Given the description of an element on the screen output the (x, y) to click on. 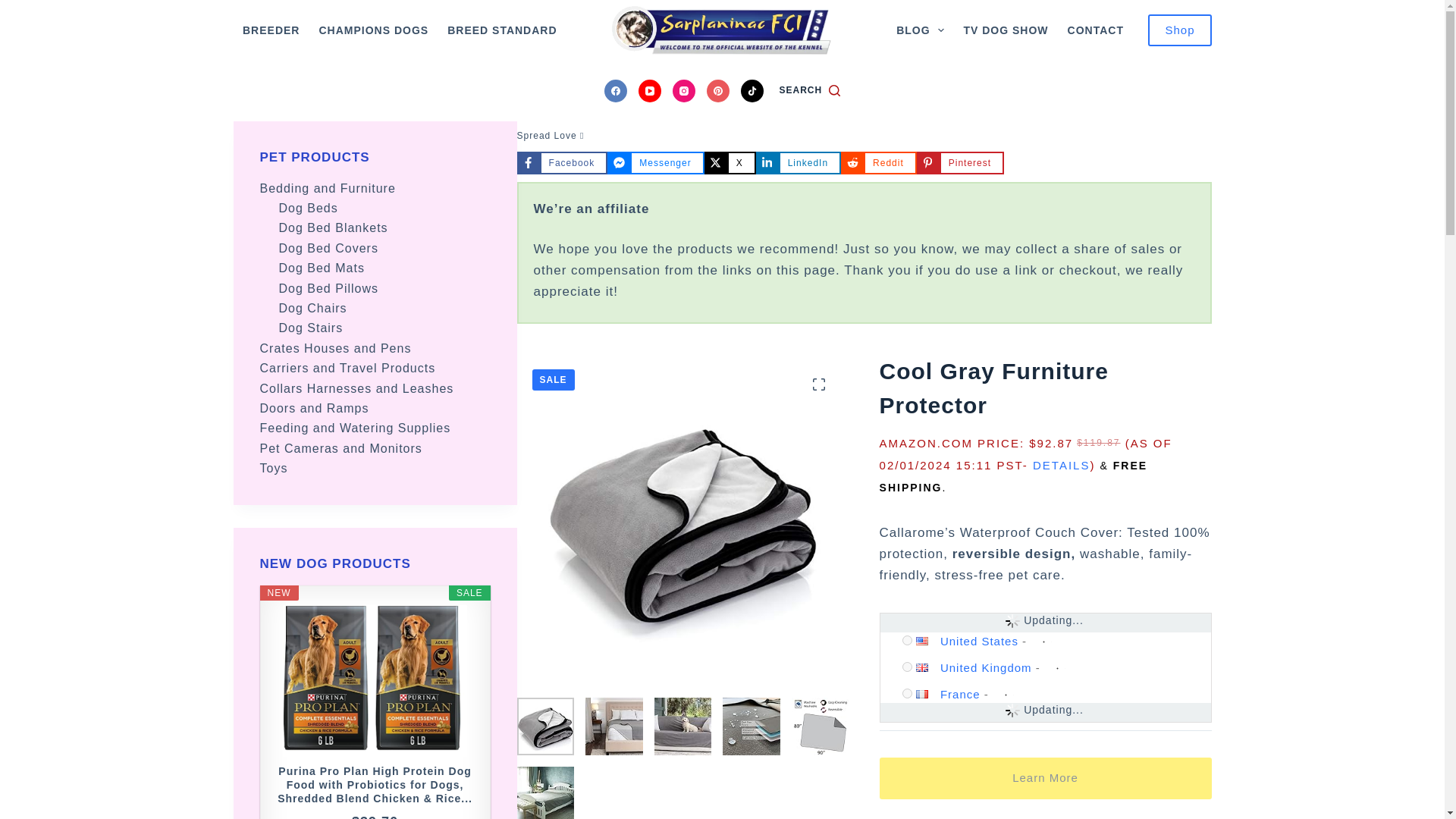
Sarplaninac Breed Standard (502, 30)
Sarplaninac Dog Television Shows (1005, 30)
on (907, 693)
on (907, 666)
Sarplaninac Champions Dogs (373, 30)
on (907, 640)
Blog About Sarplaninac Dogs and Puppies (919, 30)
Sarplaninac Dog Breeder (270, 30)
Skip to content (15, 7)
Contact Dog Kennel FCI 4302 (1095, 30)
